Given the description of an element on the screen output the (x, y) to click on. 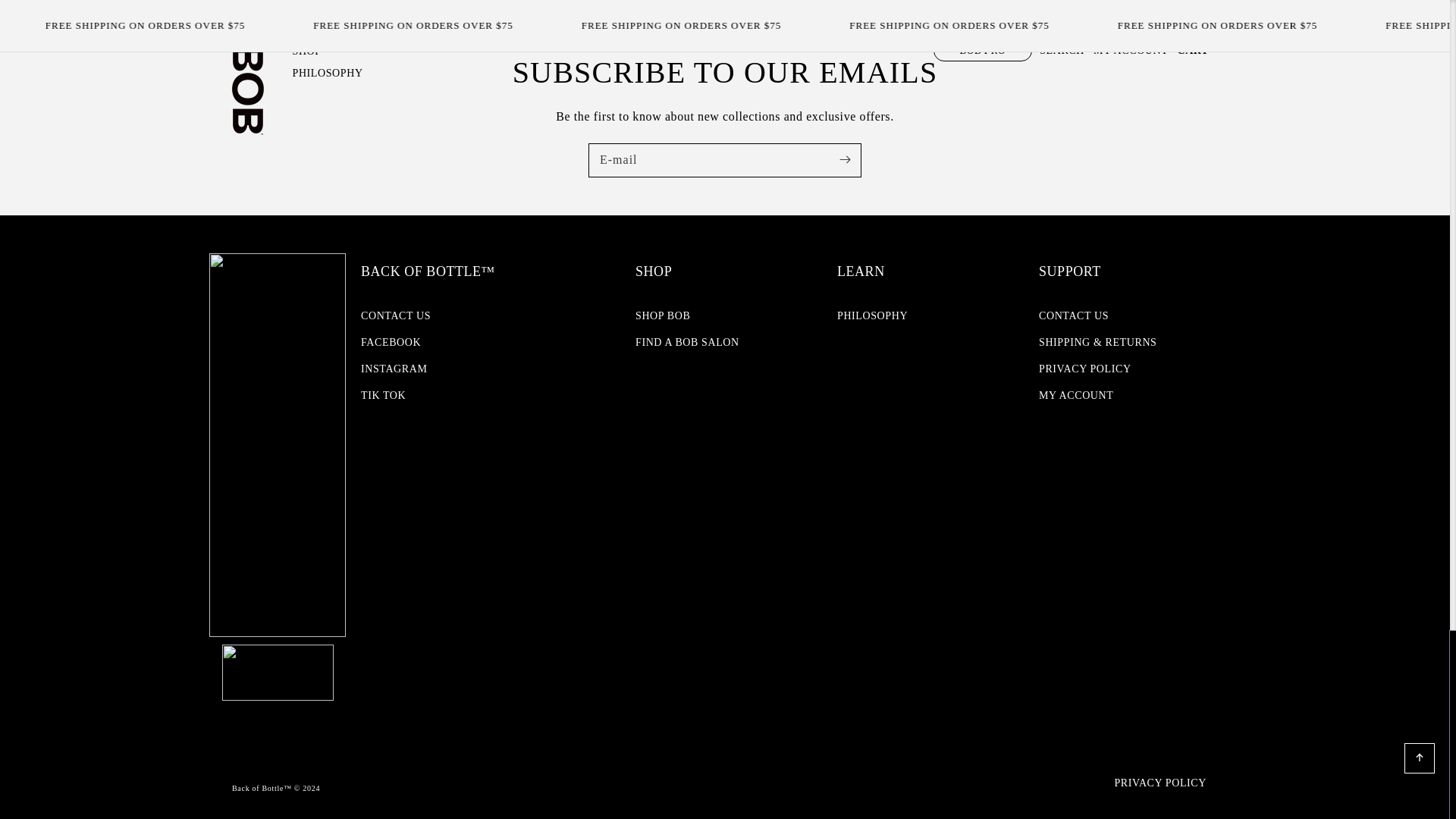
CONTACT US (395, 317)
INSTAGRAM (394, 368)
FACEBOOK (390, 342)
